Given the description of an element on the screen output the (x, y) to click on. 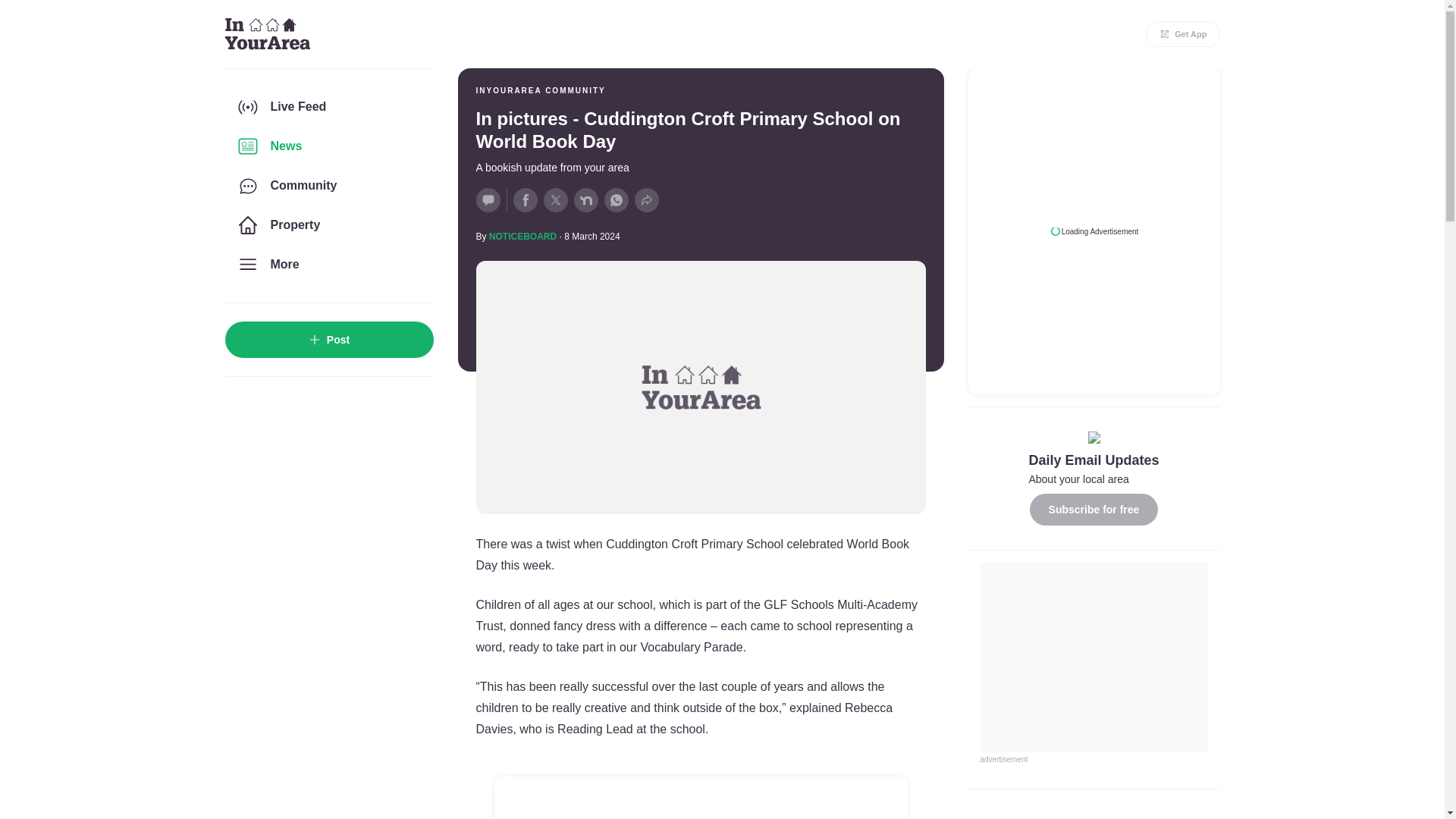
Get App (1182, 33)
Property (328, 224)
Social Button (488, 200)
Share to Nextdoor (584, 200)
Share to X (555, 200)
Share to ... (645, 200)
News (328, 146)
Share to Whatsapp (615, 200)
Community (328, 185)
Post (328, 339)
